Given the description of an element on the screen output the (x, y) to click on. 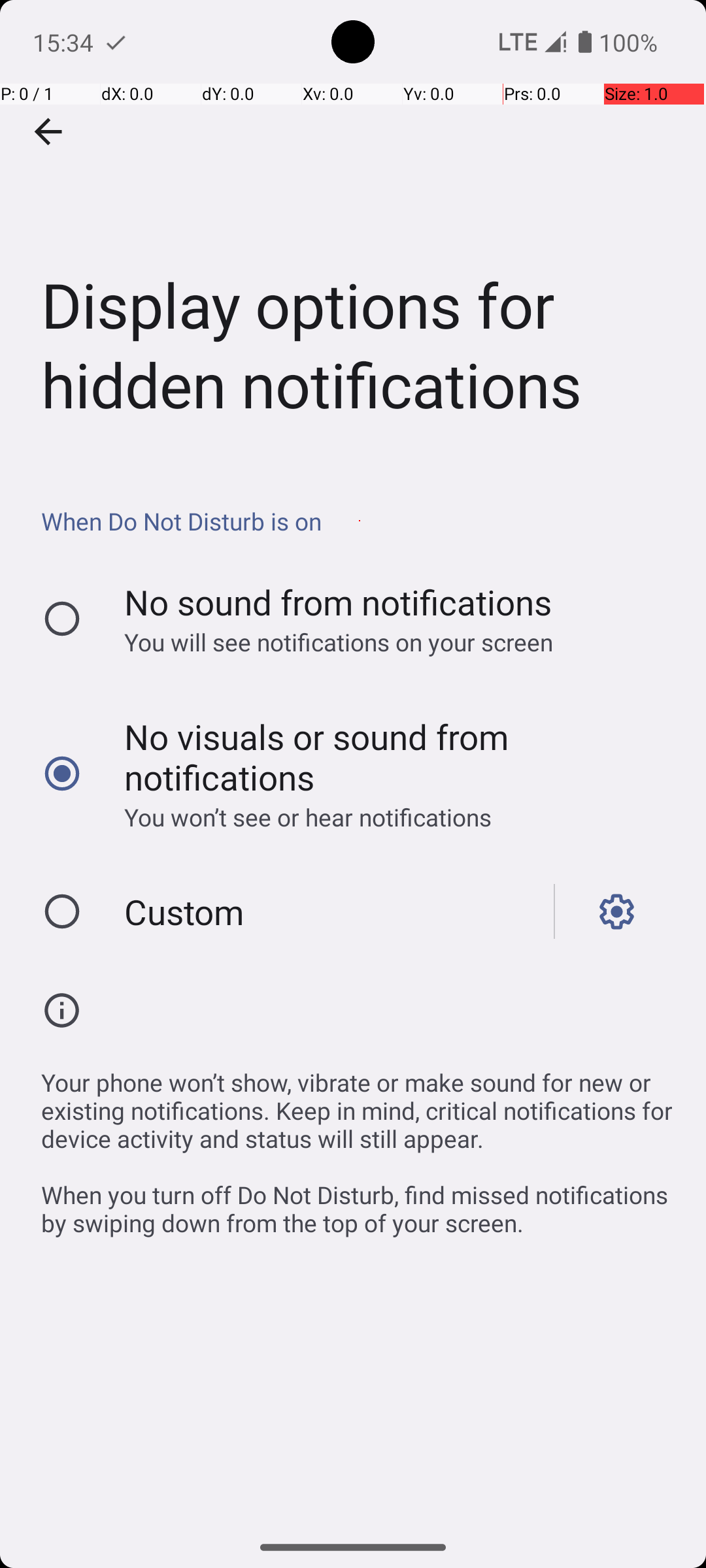
Display options for hidden notifications Element type: android.widget.FrameLayout (353, 231)
When Do Not Disturb is on Element type: android.widget.TextView (359, 520)
No sound from notifications Element type: android.widget.TextView (338, 601)
You will see notifications on your screen Element type: android.widget.TextView (387, 641)
No visuals or sound from notifications Element type: android.widget.TextView (387, 756)
You won’t see or hear notifications Element type: android.widget.TextView (387, 816)
Your phone won’t show, vibrate or make sound for new or existing notifications. Keep in mind, critical notifications for device activity and status will still appear.

When you turn off Do Not Disturb, find missed notifications by swiping down from the top of your screen. Element type: android.widget.TextView (359, 1145)
